Given the description of an element on the screen output the (x, y) to click on. 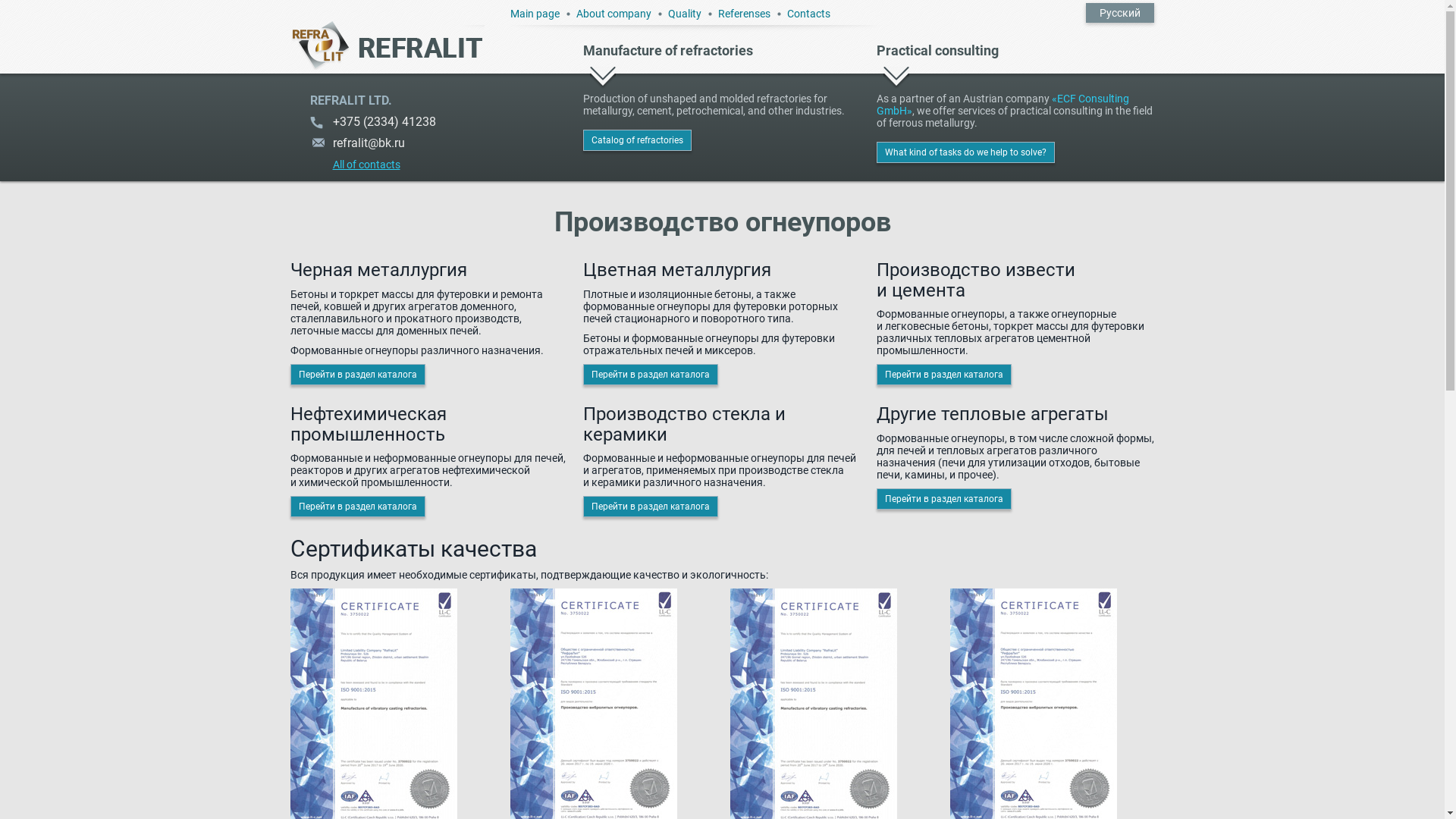
Contacts Element type: text (808, 13)
Referenses Element type: text (743, 13)
Quality Element type: text (683, 13)
About company Element type: text (613, 13)
refralit@bk.ru Element type: text (438, 147)
What kind of tasks do we help to solve? Element type: text (965, 152)
Catalog of refractories Element type: text (637, 139)
+375 (2334) 41238 Element type: text (438, 126)
Main page Element type: text (533, 13)
All of contacts Element type: text (354, 161)
